Given the description of an element on the screen output the (x, y) to click on. 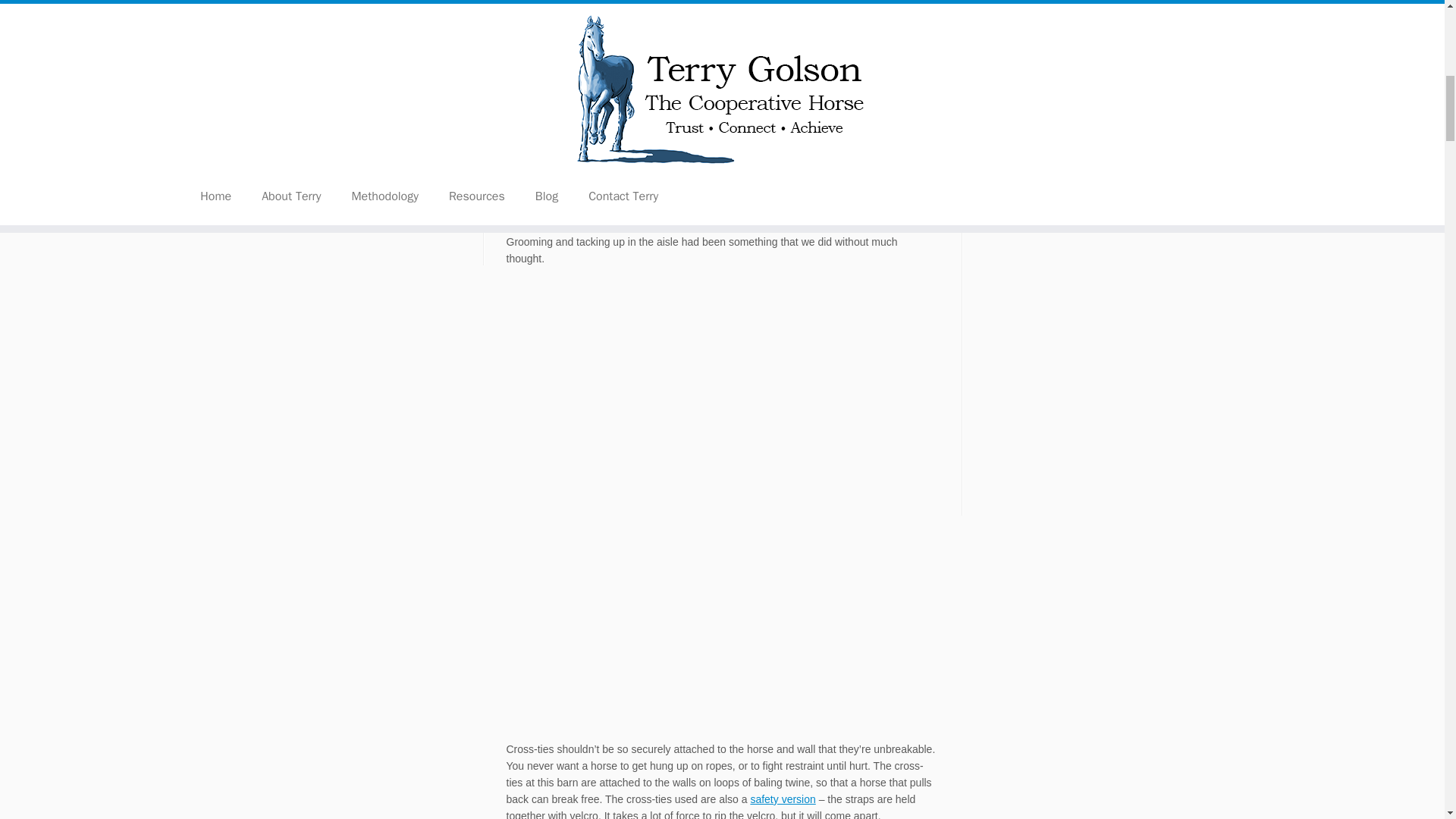
safety version (782, 799)
